Given the description of an element on the screen output the (x, y) to click on. 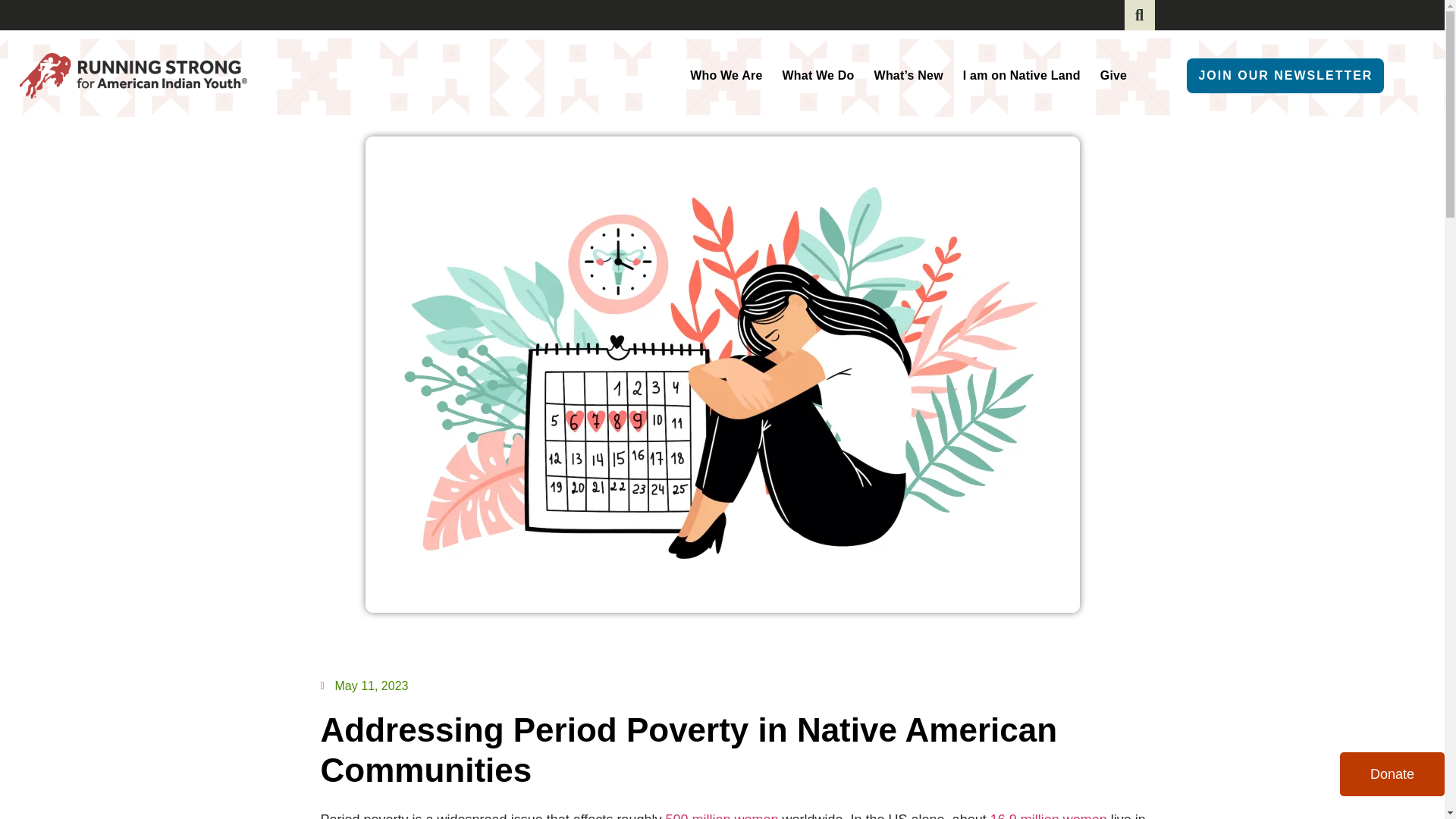
I am on Native Land (1021, 75)
What We Do (818, 75)
Who We Are (726, 75)
